Given the description of an element on the screen output the (x, y) to click on. 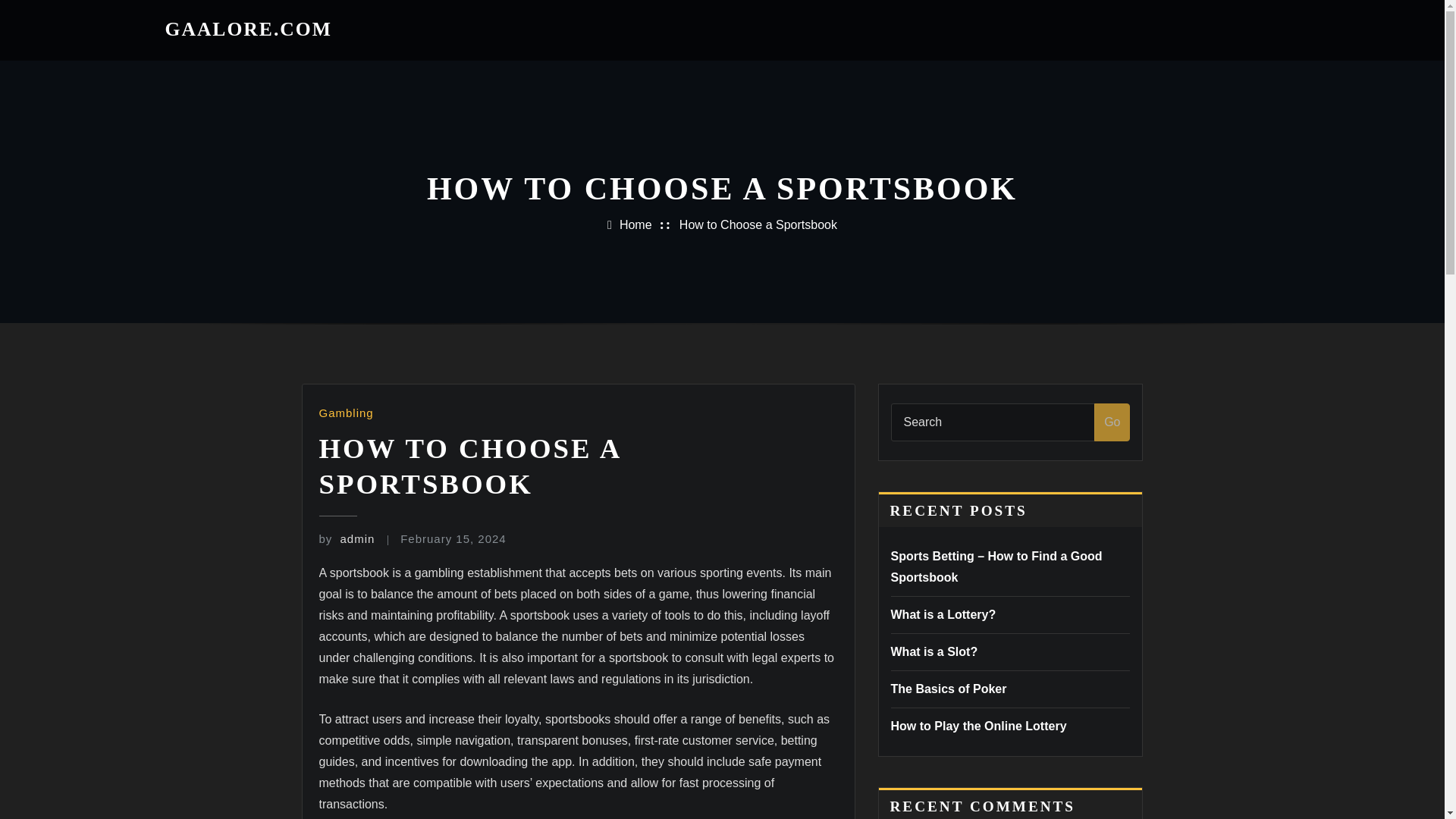
Home (636, 224)
Go (1111, 422)
How to Choose a Sportsbook (758, 224)
How to Play the Online Lottery (977, 725)
What is a Lottery? (942, 614)
GAALORE.COM (248, 29)
Gambling (345, 412)
What is a Slot? (932, 651)
by admin (346, 538)
February 15, 2024 (453, 538)
The Basics of Poker (947, 688)
